Given the description of an element on the screen output the (x, y) to click on. 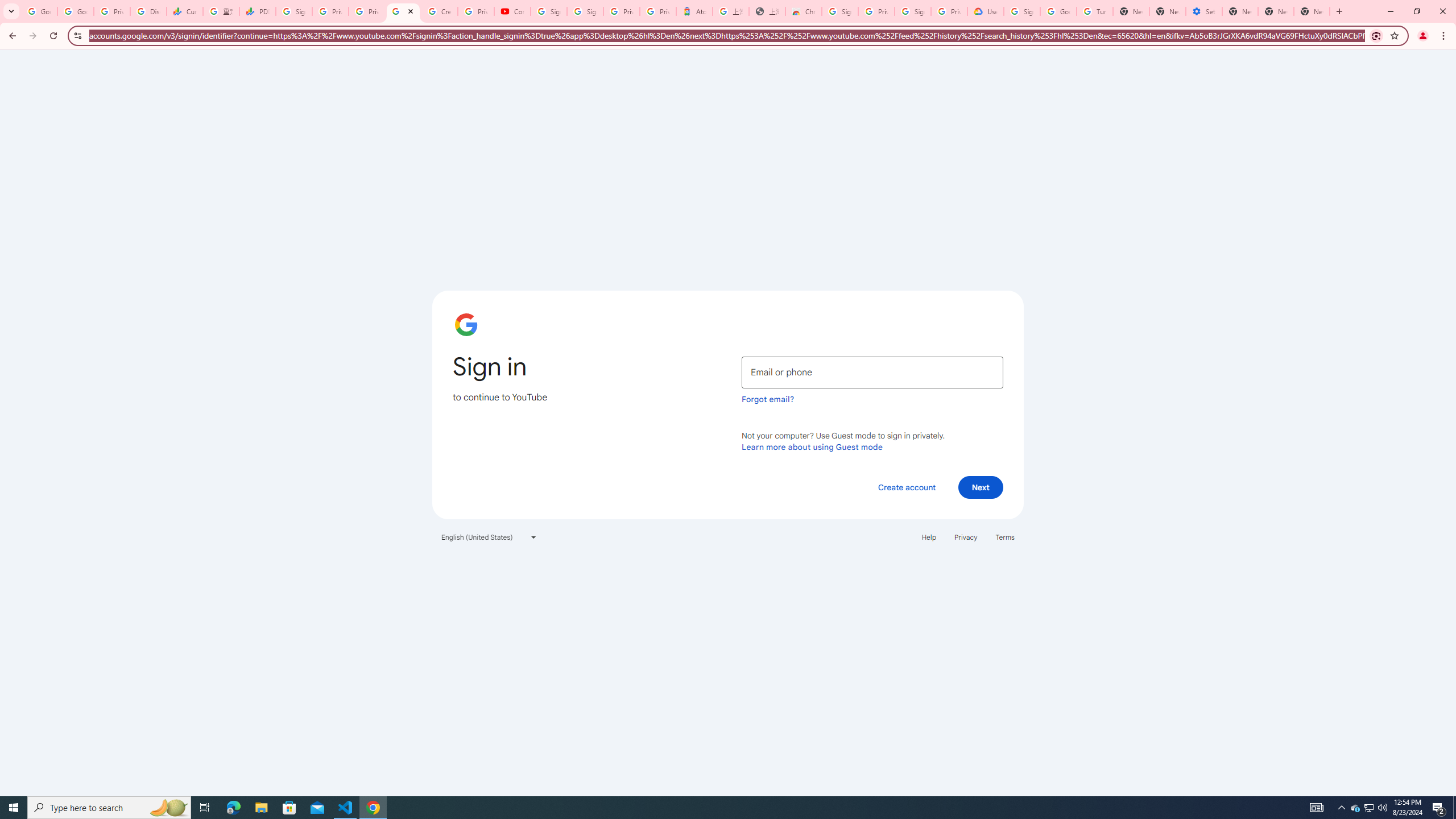
PDD Holdings Inc - ADR (PDD) Price & News - Google Finance (257, 11)
Sign in - Google Accounts (585, 11)
YouTube (403, 11)
Sign in - Google Accounts (1021, 11)
Content Creator Programs & Opportunities - YouTube Creators (512, 11)
